Given the description of an element on the screen output the (x, y) to click on. 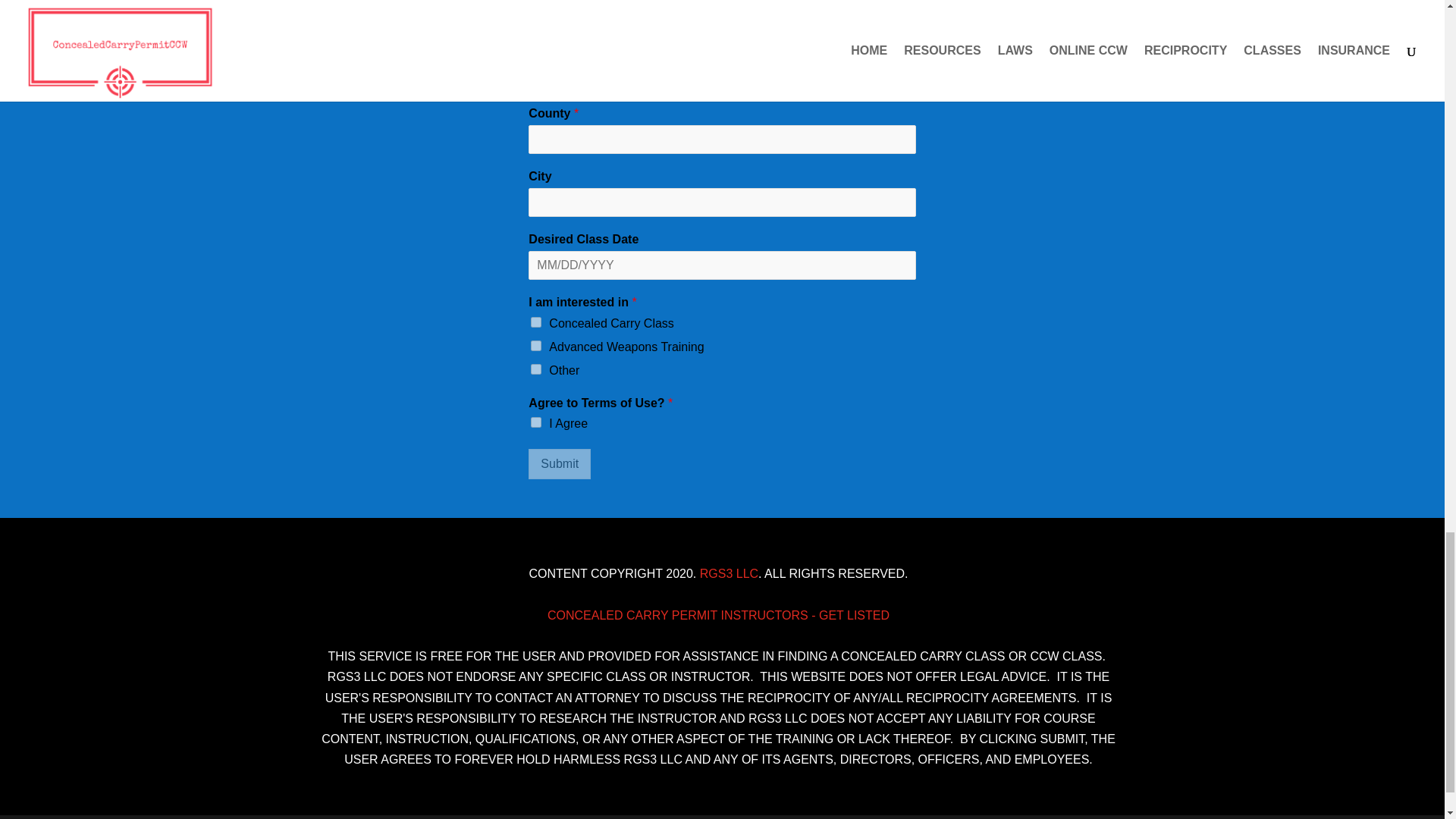
Concealed Carry Class (536, 321)
I Agree (536, 421)
Other (536, 368)
Advanced Weapons Training (536, 345)
Submit (559, 463)
RGS3 LLC (729, 573)
CONCEALED CARRY PERMIT INSTRUCTORS - GET LISTED (718, 615)
